Given the description of an element on the screen output the (x, y) to click on. 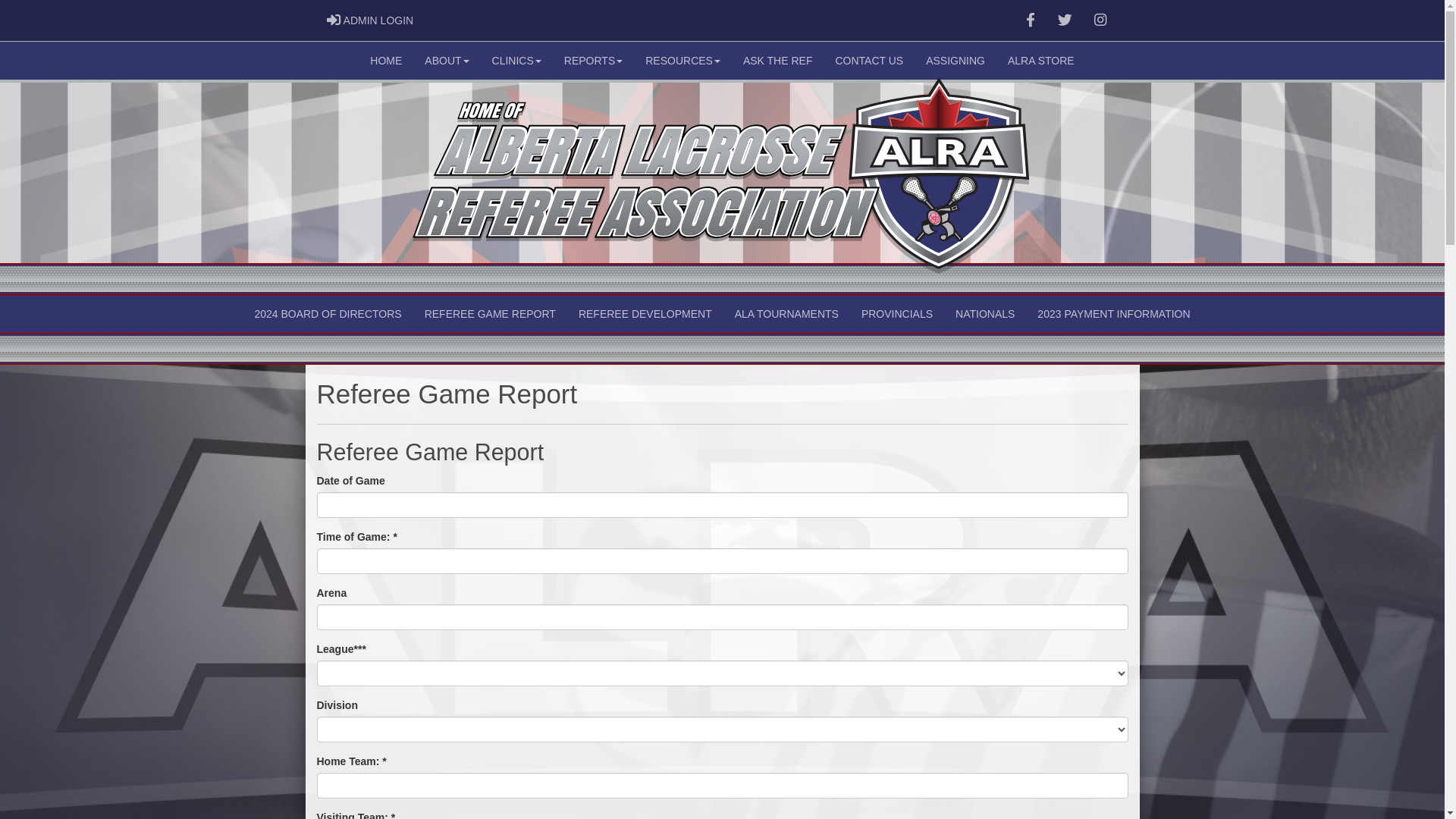
like us Element type: hover (1030, 19)
Instagram Element type: text (1100, 20)
Login Page Element type: hover (333, 19)
Facebook Element type: text (1030, 20)
REFEREE DEVELOPMENT Element type: text (645, 313)
CLINICS Element type: text (516, 60)
PROVINCIALS Element type: text (897, 313)
ALA TOURNAMENTS Element type: text (786, 313)
LOGIN PAGE
 ADMIN LOGIN
ADMIN LOGIN Element type: text (369, 20)
instagram Element type: hover (1100, 19)
REPORTS Element type: text (592, 60)
ALRA STORE Element type: text (1040, 60)
2024 BOARD OF DIRECTORS Element type: text (327, 313)
Twitter Element type: text (1065, 20)
ASSIGNING Element type: text (955, 60)
ABOUT Element type: text (446, 60)
HOME Element type: text (385, 60)
NATIONALS Element type: text (985, 313)
RESOURCES Element type: text (682, 60)
follow us Element type: hover (1064, 19)
2023 PAYMENT INFORMATION Element type: text (1113, 313)
ASK THE REF Element type: text (777, 60)
CONTACT US Element type: text (868, 60)
REFEREE GAME REPORT Element type: text (490, 313)
